Given the description of an element on the screen output the (x, y) to click on. 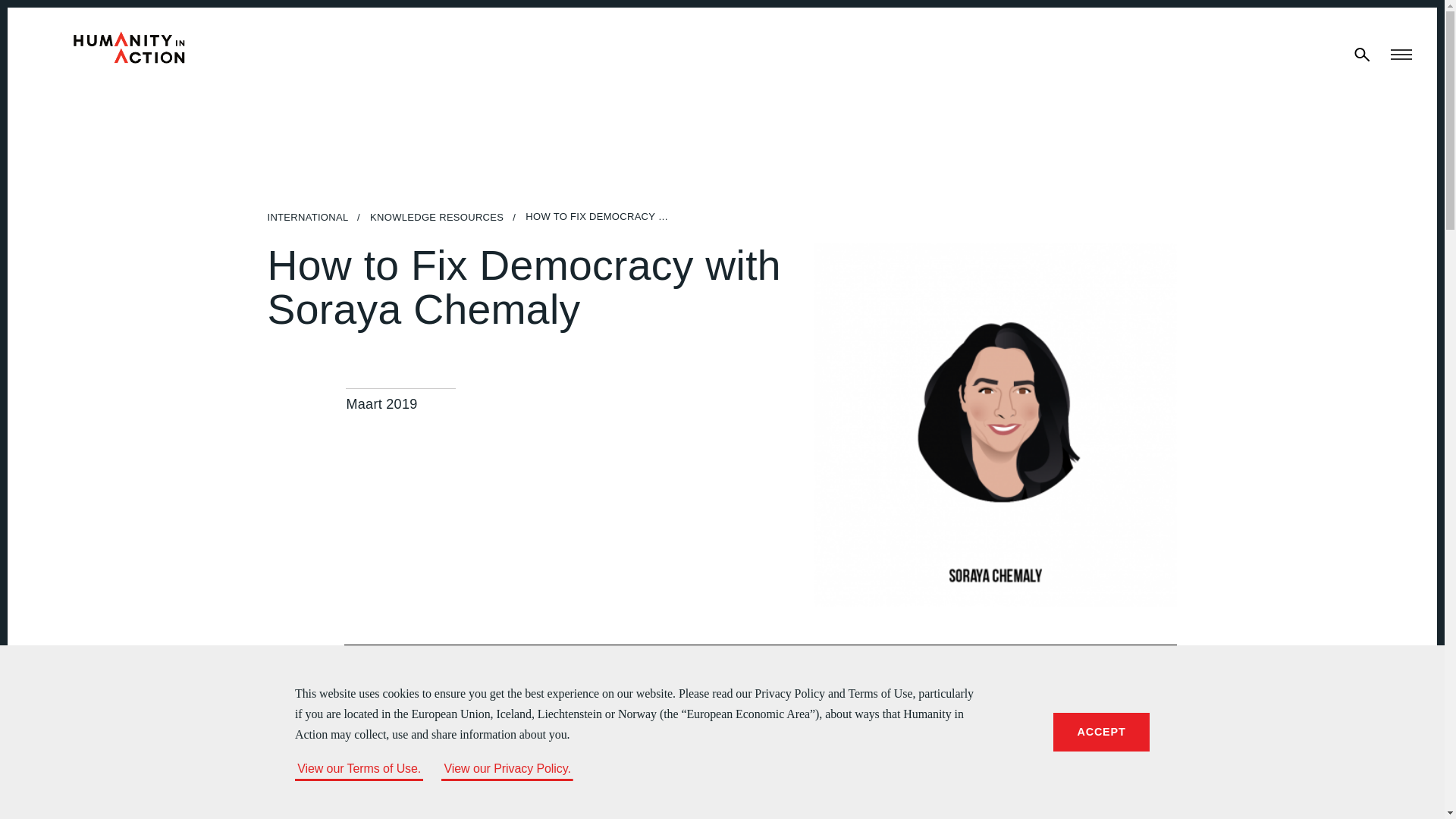
View our Terms of Use. (359, 768)
ACCEPT (1101, 731)
View our Privacy Policy. (507, 768)
